Given the description of an element on the screen output the (x, y) to click on. 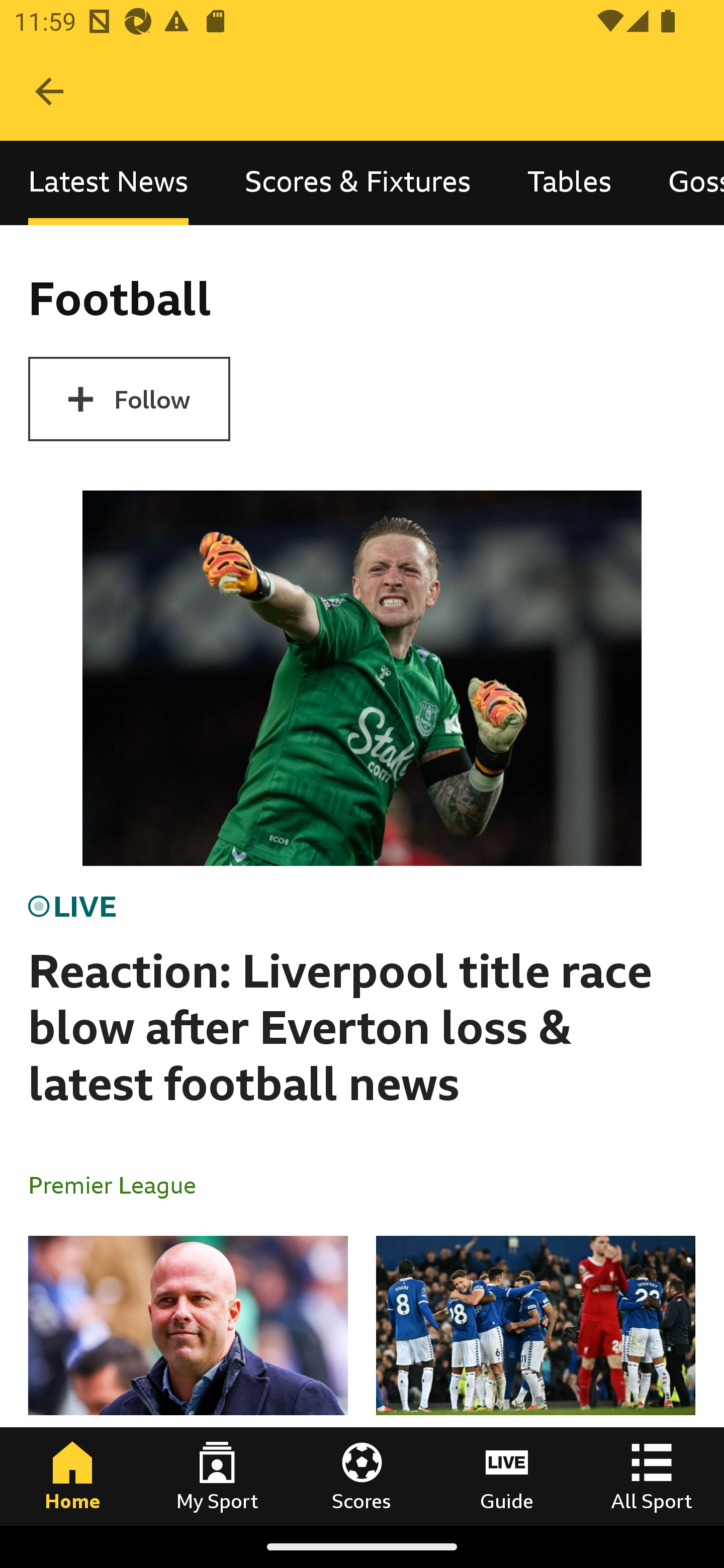
Navigate up (49, 91)
Latest News, selected Latest News (108, 183)
Scores & Fixtures (357, 183)
Tables (569, 183)
Follow Football Follow (129, 398)
Premier League In the section Premier League (119, 1184)
Slot philosophy could suit Liverpool - Van Dijk (188, 1380)
My Sport (216, 1475)
Scores (361, 1475)
Guide (506, 1475)
All Sport (651, 1475)
